Given the description of an element on the screen output the (x, y) to click on. 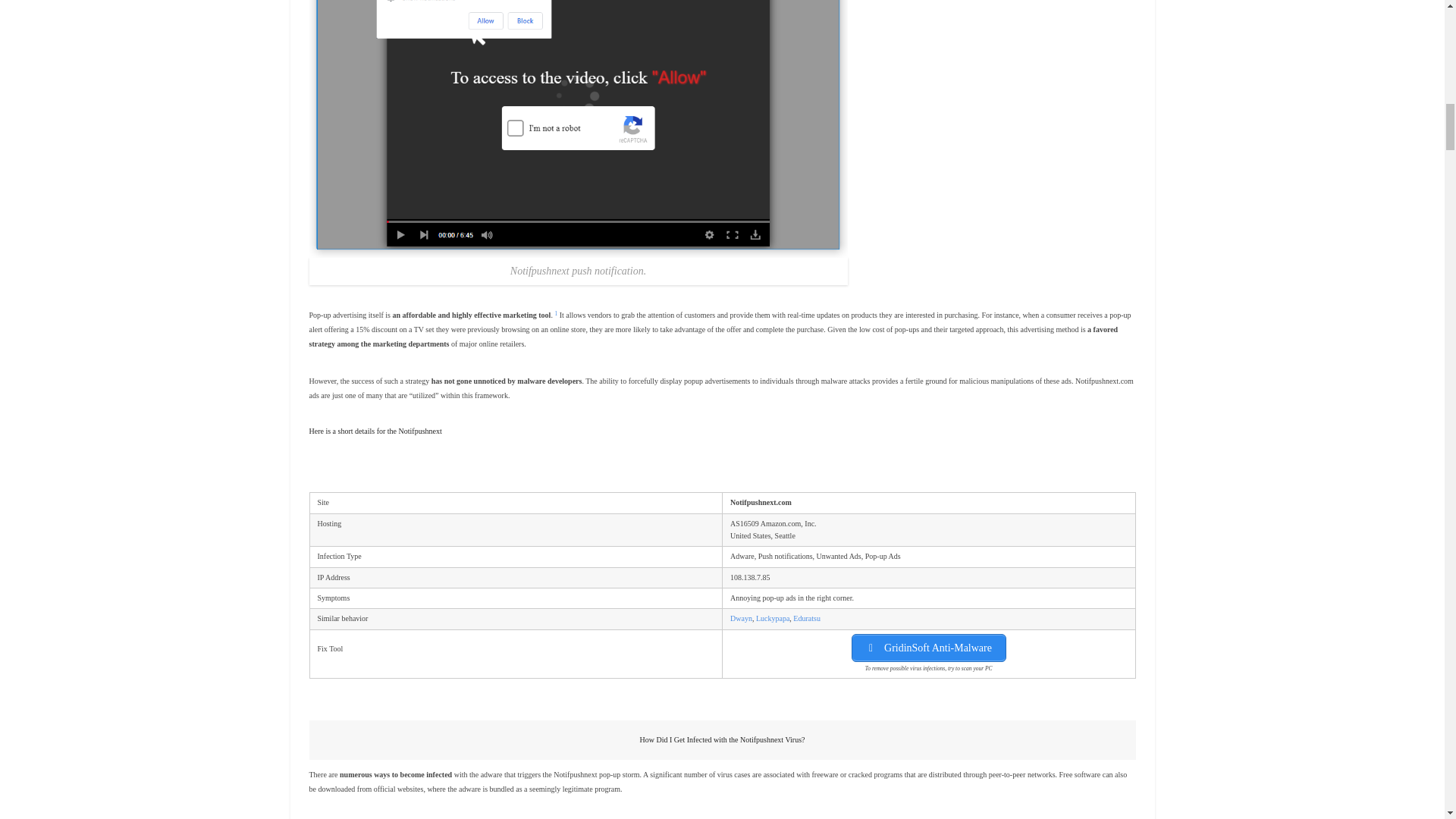
GridinSoft Anti-Malware (928, 647)
Luckypapa (772, 618)
Dwayn (741, 618)
Eduratsu (807, 618)
